Given the description of an element on the screen output the (x, y) to click on. 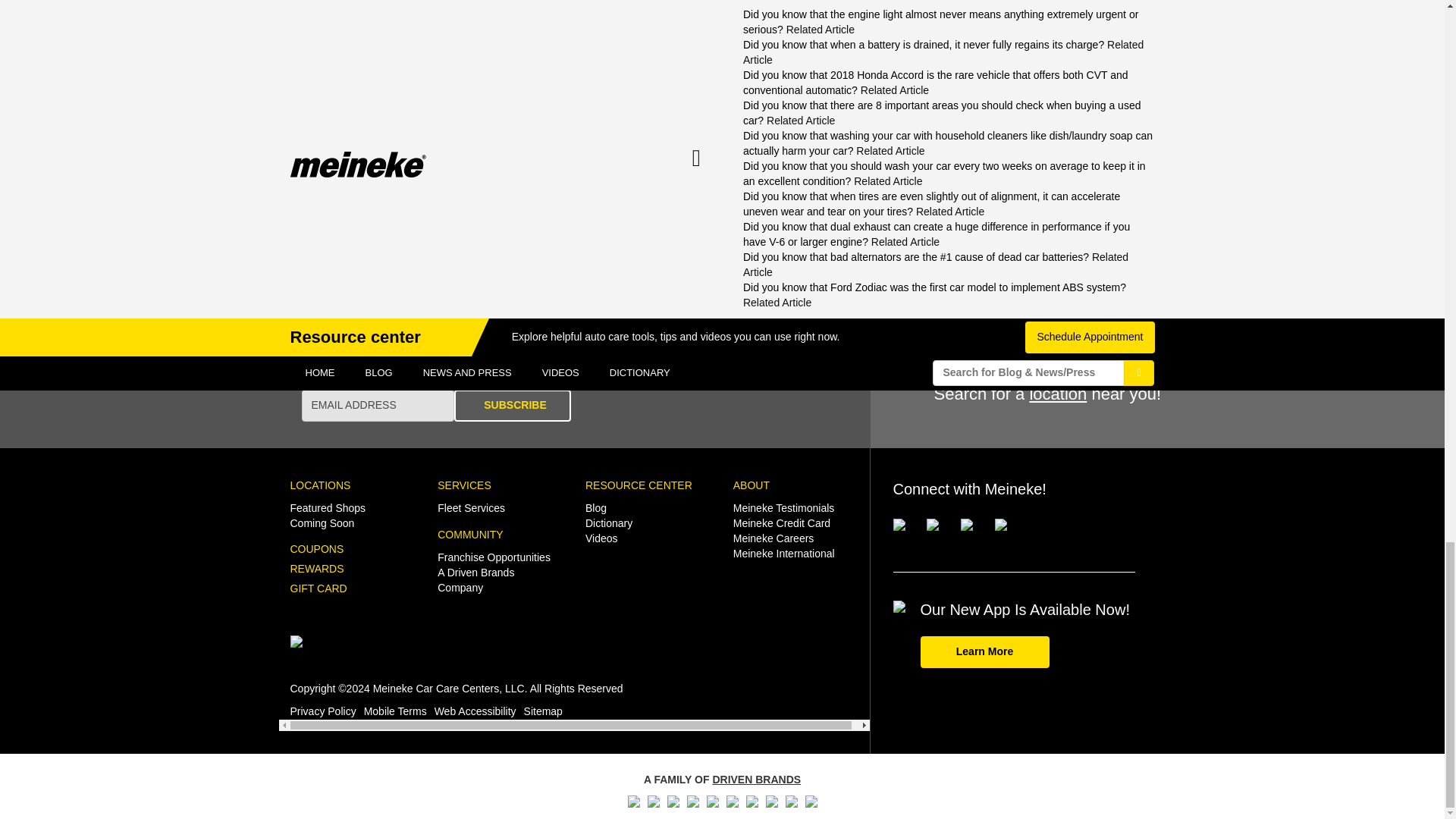
Go to Ask an Expert category (338, 238)
Go To The Locations Page (319, 485)
local Meineke Car Care Center (1014, 22)
Vehicle Maintenance Tips (444, 238)
Go to Ask an Expert category (928, 238)
Does Premium Gas Last Longer? (406, 169)
Go to News and Commentary category (651, 259)
Go to Vehicle Maintenance Tips category (444, 238)
Go To Featured Shops Page (327, 508)
Does Premium Gas Last Longer? (406, 169)
